Given the description of an element on the screen output the (x, y) to click on. 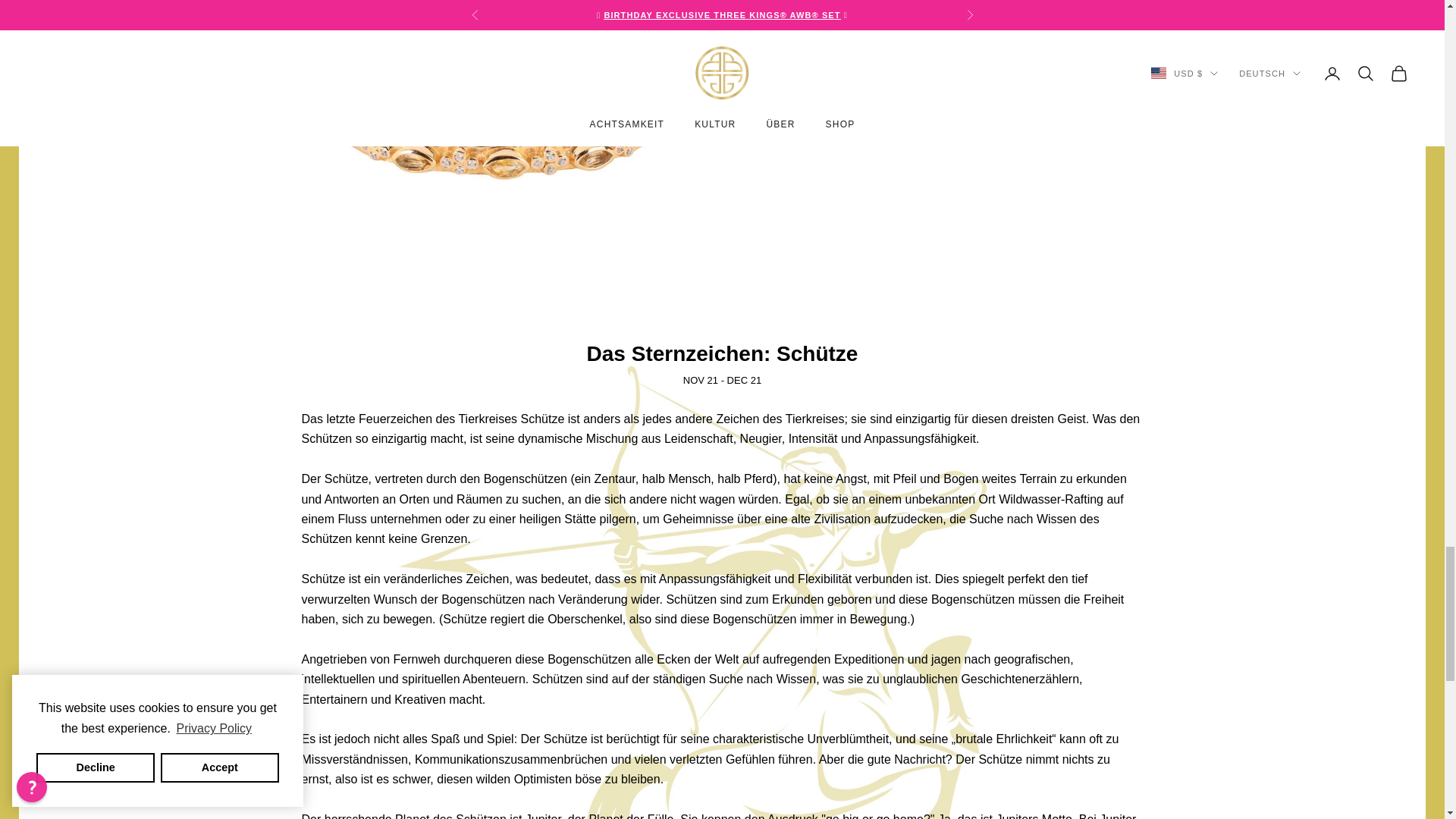
Calista Cuff (499, 156)
